Given the description of an element on the screen output the (x, y) to click on. 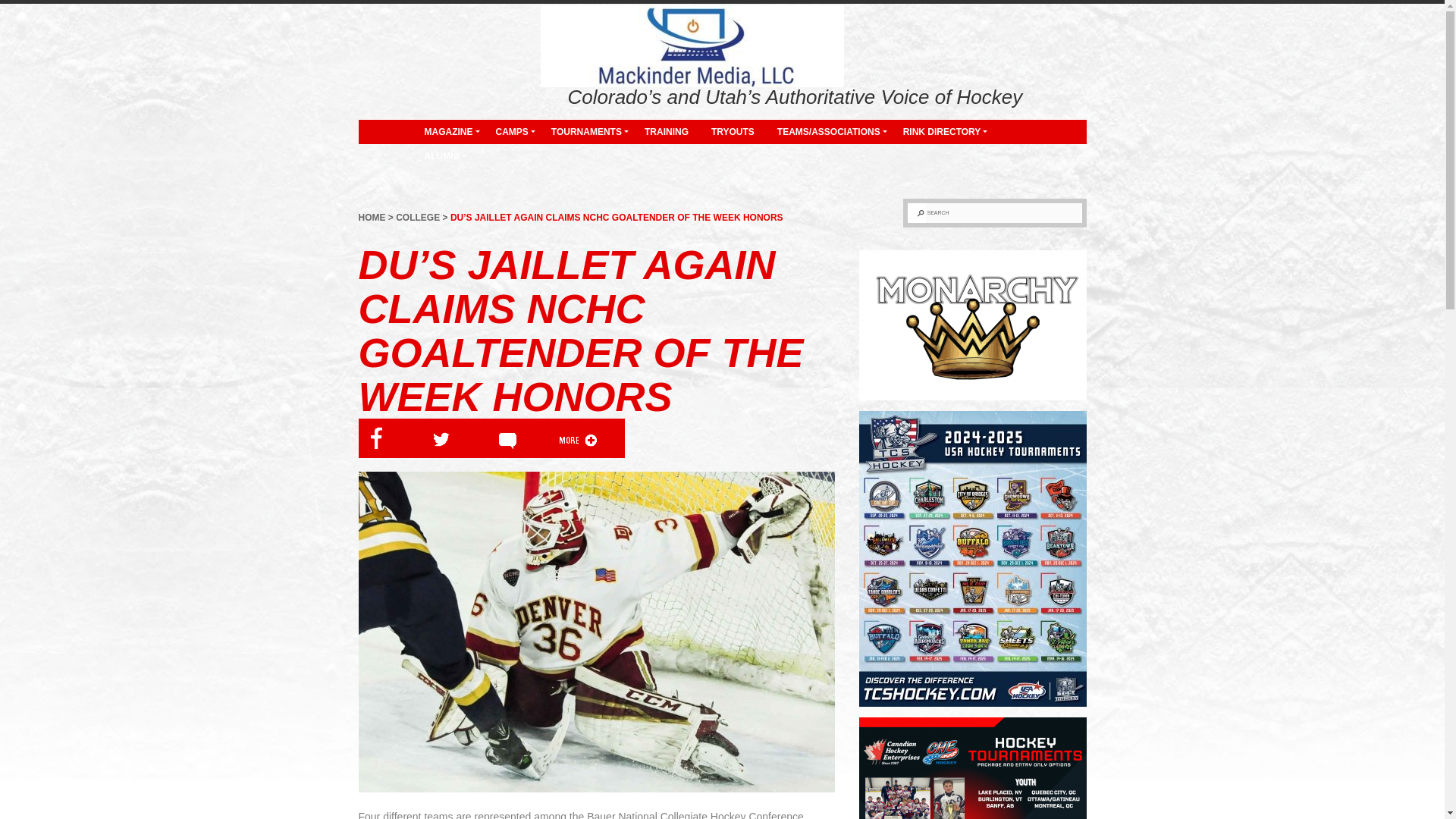
MAGAZINE (447, 131)
ALUMNI (441, 156)
RINK DIRECTORY (941, 131)
Colorado Rubber (412, 93)
TRAINING (666, 131)
TRYOUTS (732, 131)
CAMPS (510, 131)
TOURNAMENTS (586, 131)
